Given the description of an element on the screen output the (x, y) to click on. 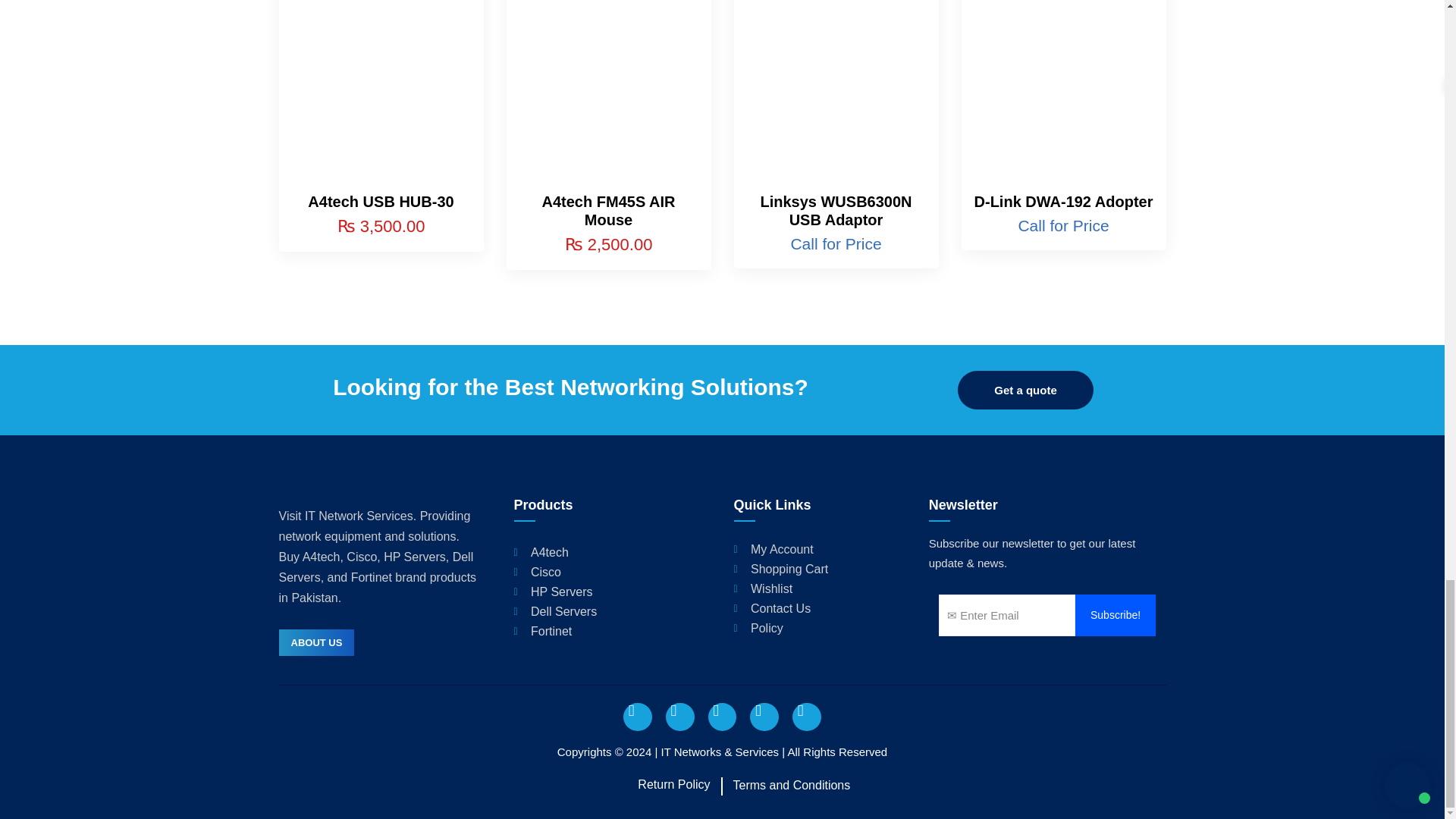
Subscribe! (1115, 615)
